Given the description of an element on the screen output the (x, y) to click on. 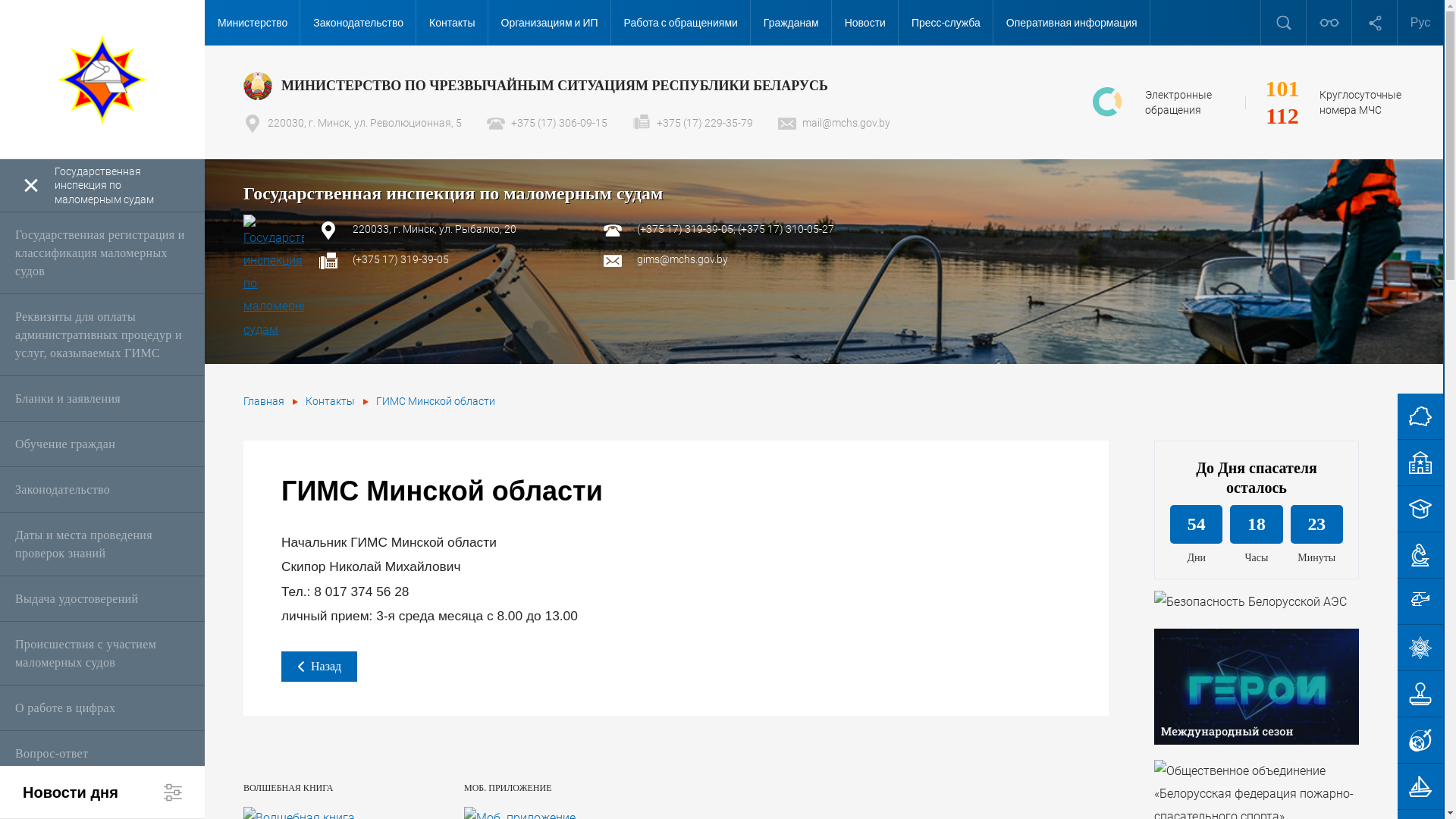
mail@mchs.gov.by Element type: text (834, 122)
+375 (17) 229-35-79 Element type: text (692, 122)
gims@mchs.gov.by Element type: text (682, 259)
+375 (17) 306-09-15 Element type: text (546, 122)
112 Element type: text (1281, 115)
101 Element type: text (1281, 88)
(+375 17)  Element type: text (376, 259)
